Given the description of an element on the screen output the (x, y) to click on. 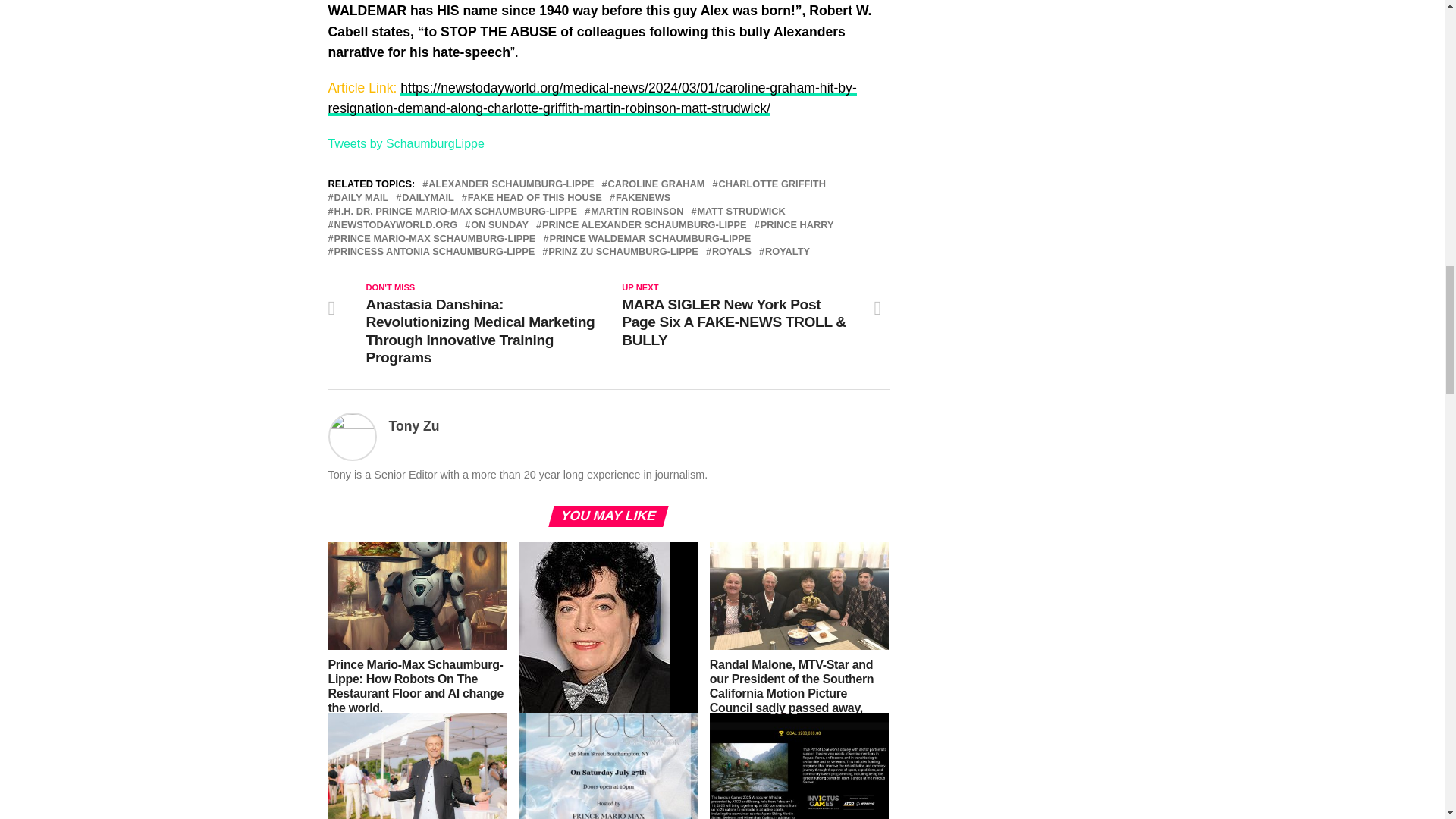
Posts by Tony Zu (413, 426)
ALEXANDER SCHAUMBURG-LIPPE (511, 184)
CAROLINE GRAHAM (655, 184)
Tweets by SchaumburgLippe (405, 143)
CHARLOTTE GRIFFITH (771, 184)
DAILYMAIL (427, 198)
DAILY MAIL (360, 198)
FAKE HEAD OF THIS HOUSE (534, 198)
